Given the description of an element on the screen output the (x, y) to click on. 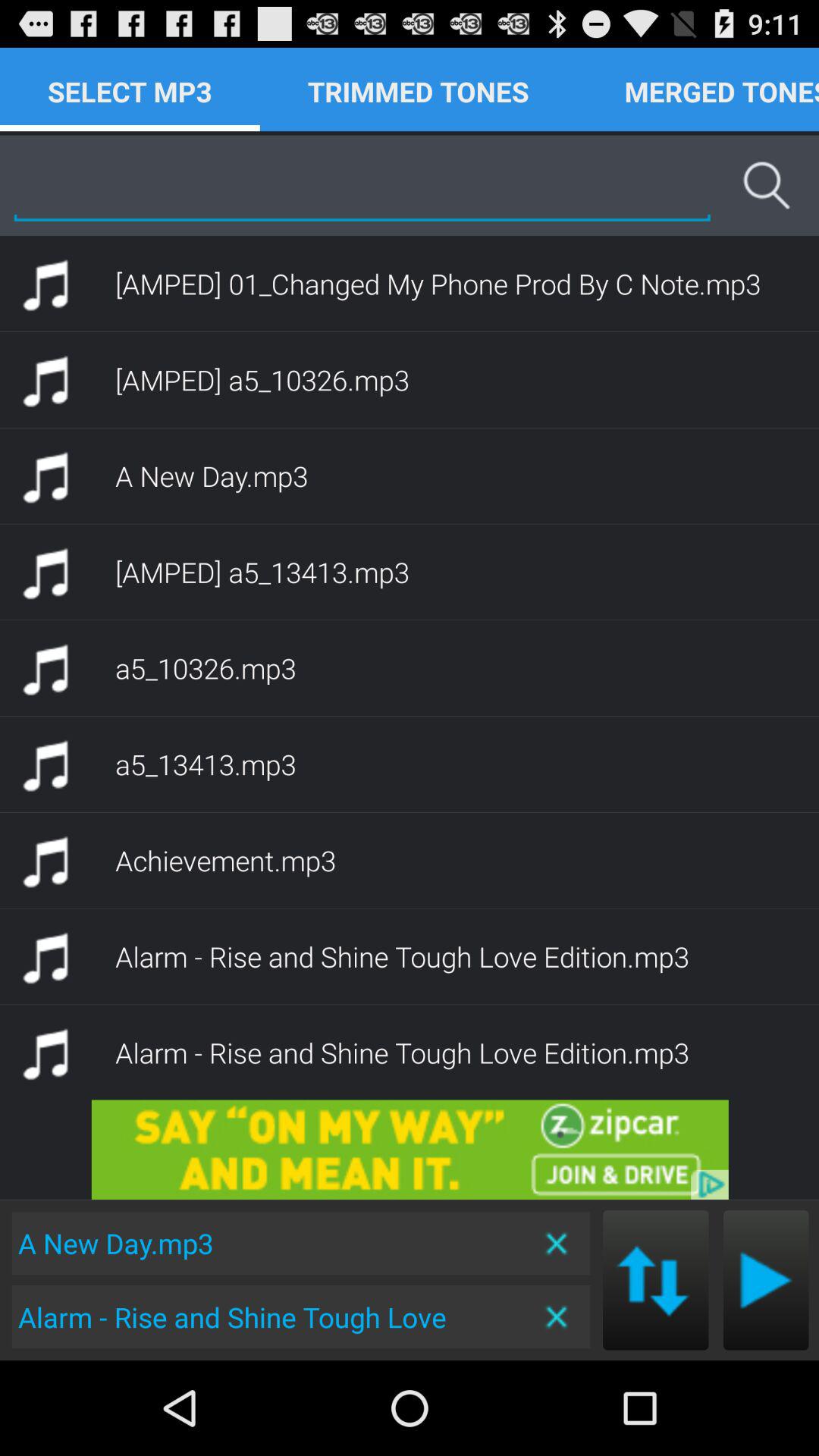
remove (557, 1243)
